Given the description of an element on the screen output the (x, y) to click on. 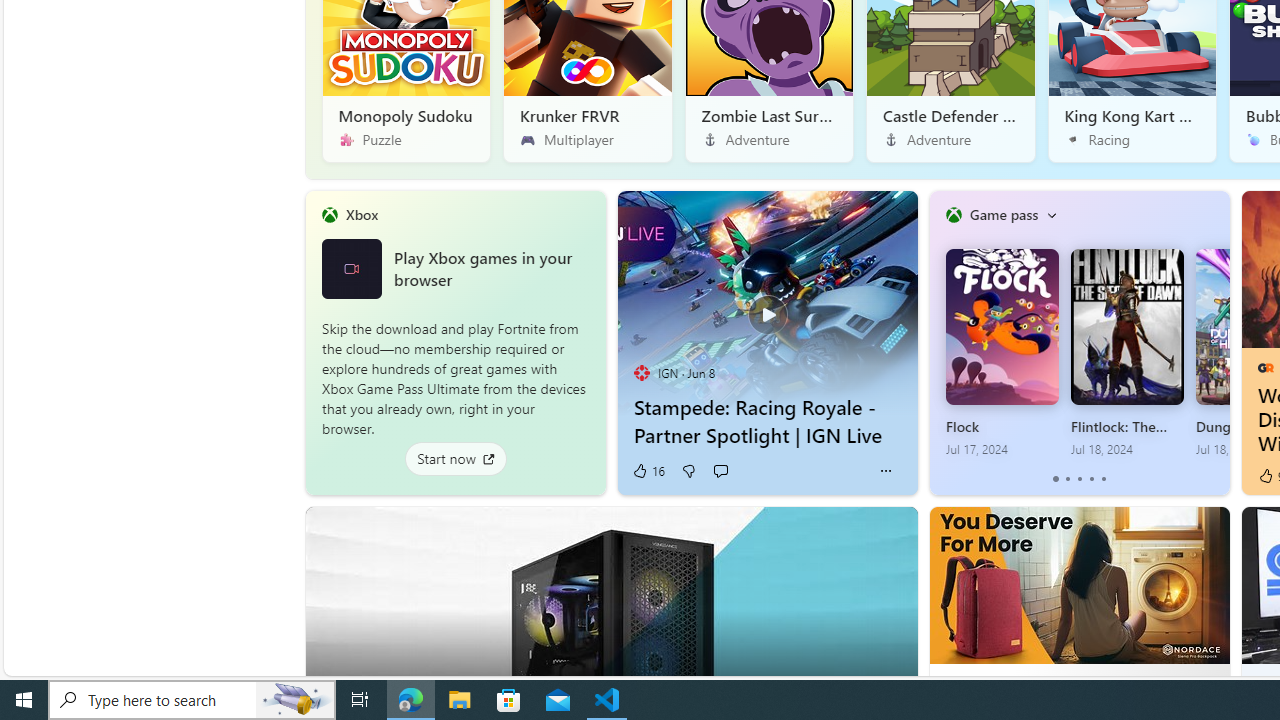
Stampede: Racing Royale - Partner Spotlight | IGN Live (766, 303)
Flock Jul 17, 2024 (1001, 353)
GameRant (1264, 367)
Hide this story (857, 530)
Start now (454, 458)
Stampede: Racing Royale - Partner Spotlight | IGN Live (767, 421)
Class: next-flipper (1218, 342)
Xbox (361, 214)
Class: previous-flipper (939, 342)
Flintlock: The Siege of Dawn Jul 18, 2024 (1127, 353)
Class: icon-img (1051, 214)
tab-2 (1078, 479)
